Given the description of an element on the screen output the (x, y) to click on. 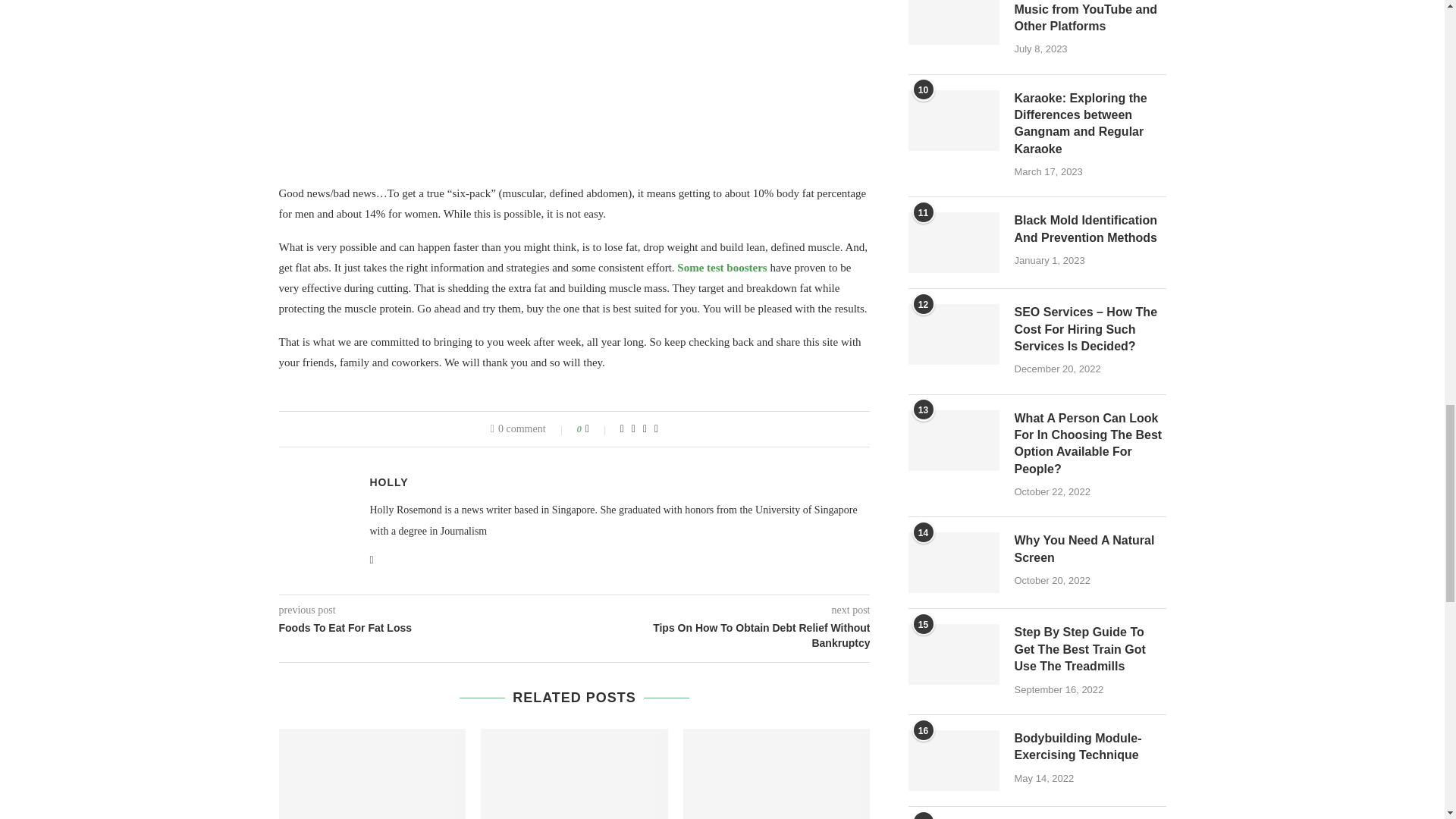
Posts by Holly (389, 481)
Like (597, 428)
